Given the description of an element on the screen output the (x, y) to click on. 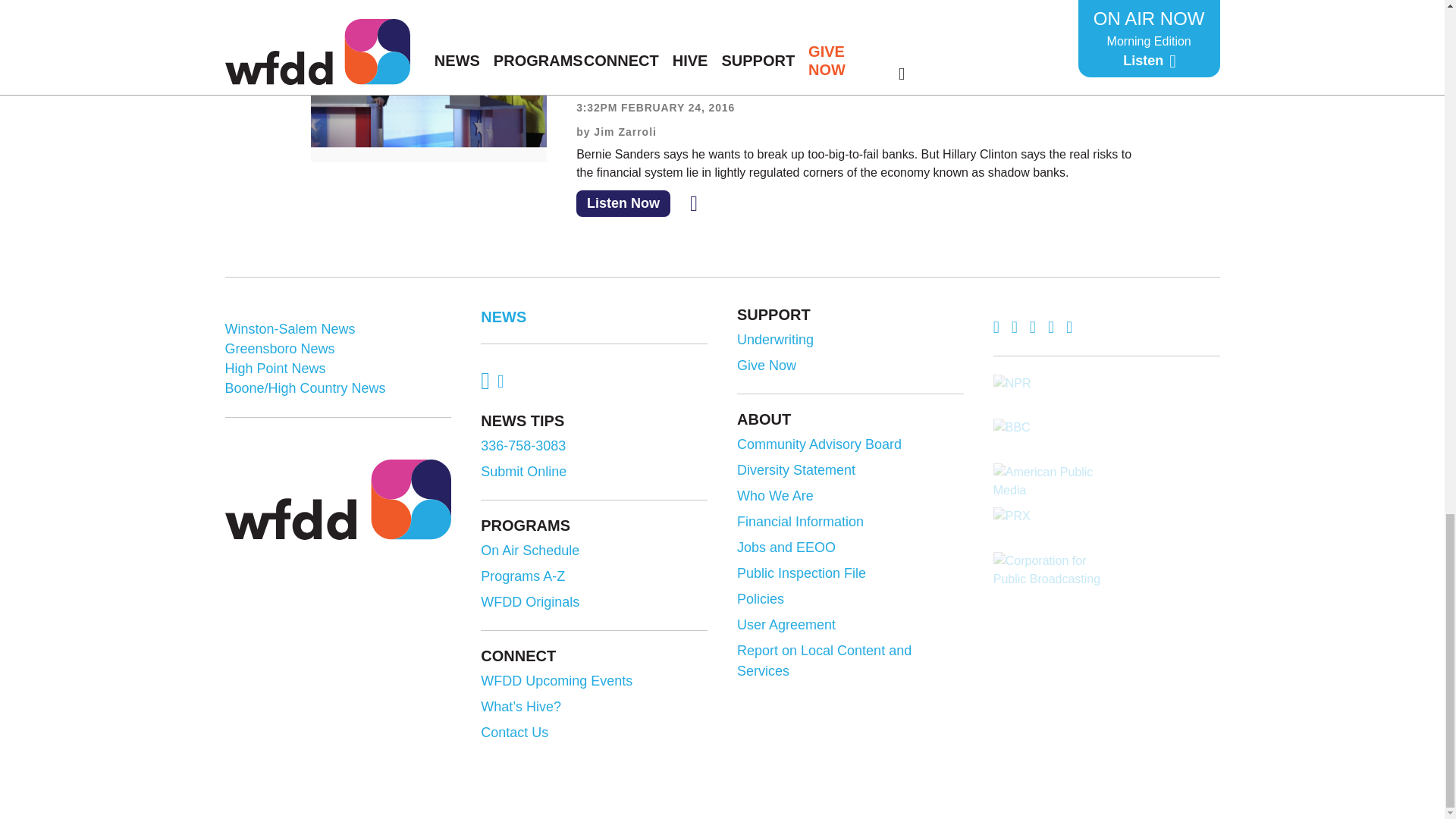
Home (337, 498)
Community Advisory Board (847, 443)
